Given the description of an element on the screen output the (x, y) to click on. 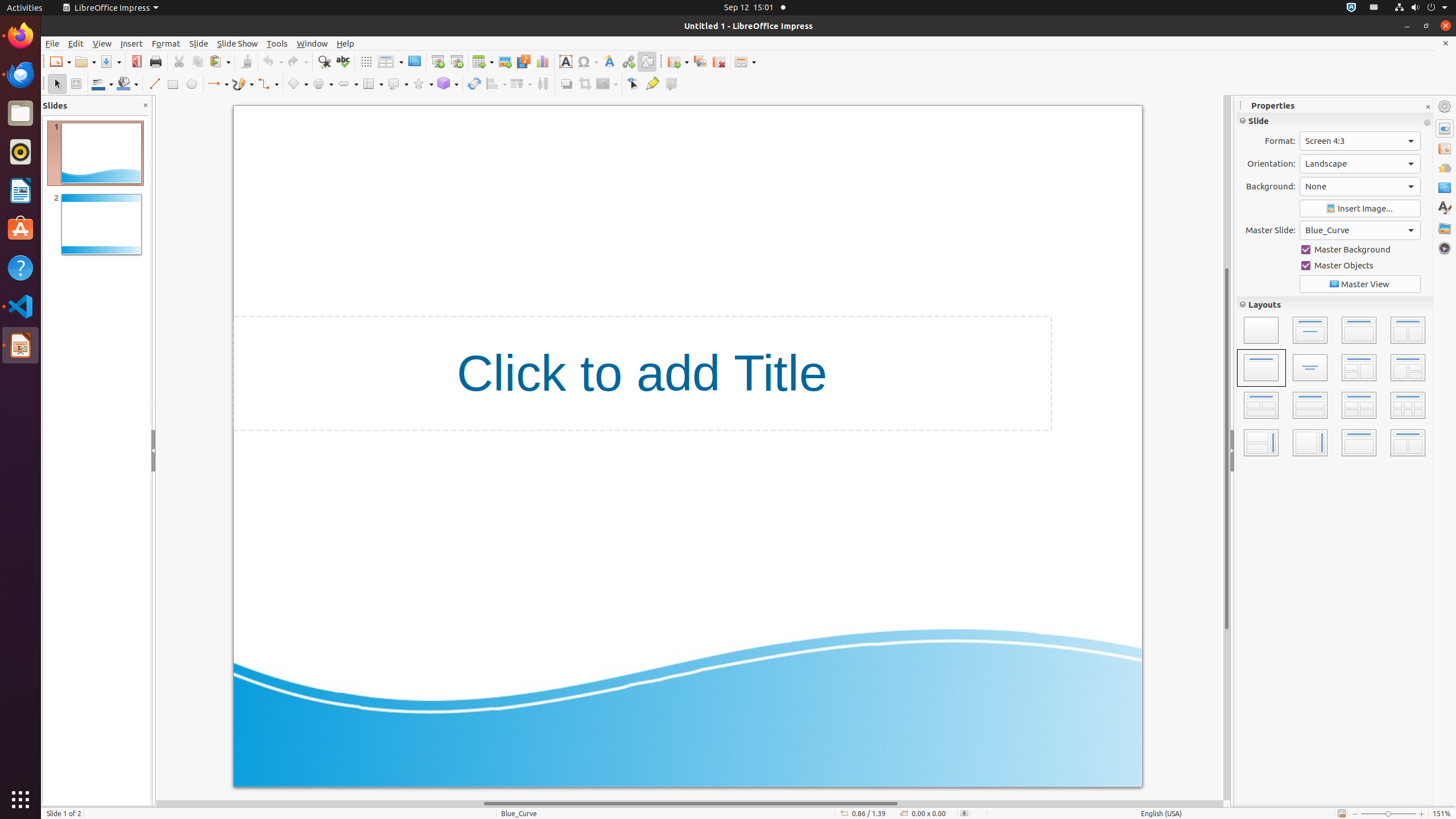
Character Spacing Element type: push-button (1383, 192)
Lines and Arrows Element type: push-button (217, 83)
Move Up Element type: push-button (1422, 386)
Right Element type: push-button (1275, 234)
Close Sidebar Deck Element type: push-button (1427, 106)
